Given the description of an element on the screen output the (x, y) to click on. 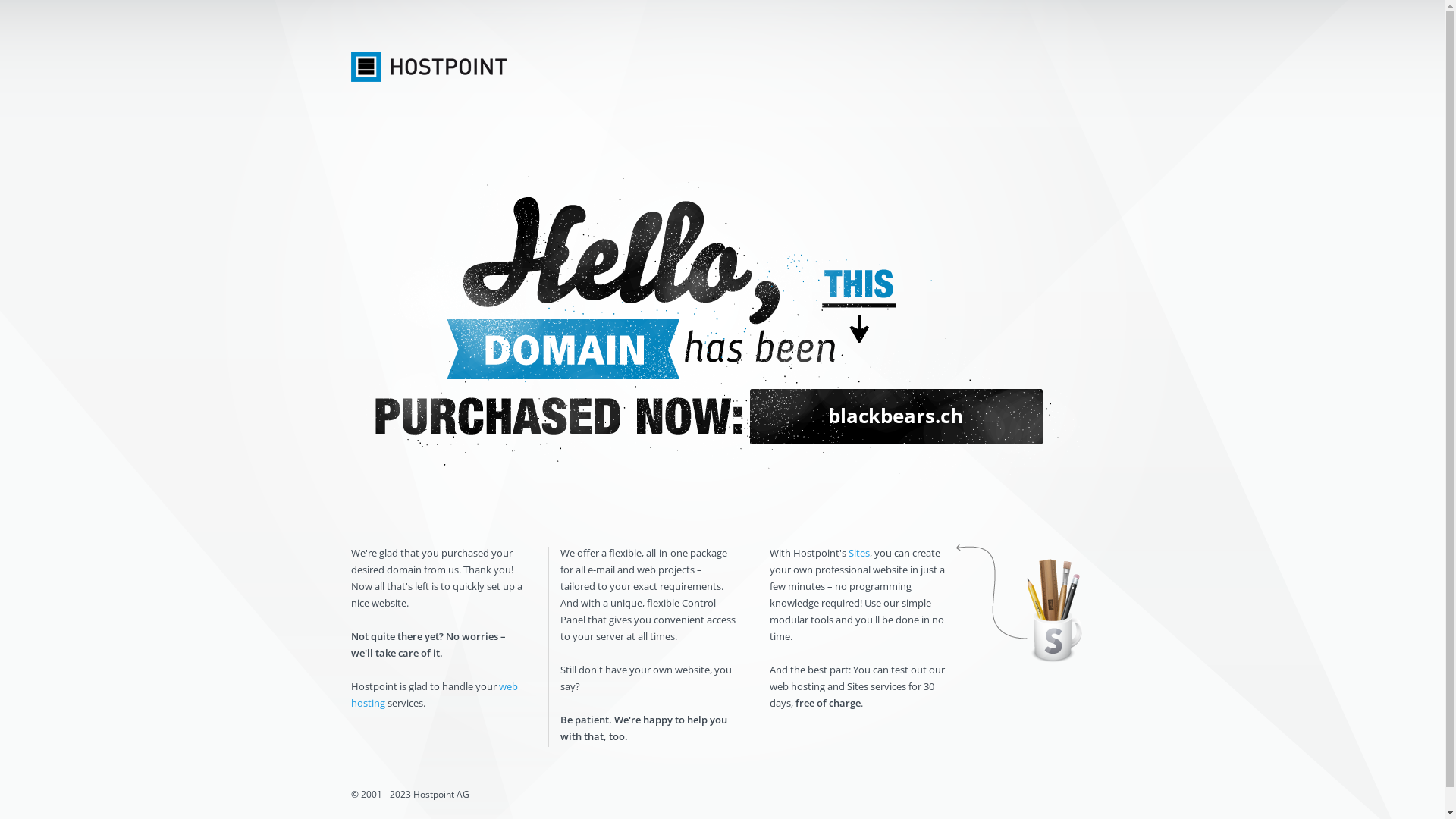
web hosting Element type: text (433, 694)
Sites Element type: text (858, 552)
